Given the description of an element on the screen output the (x, y) to click on. 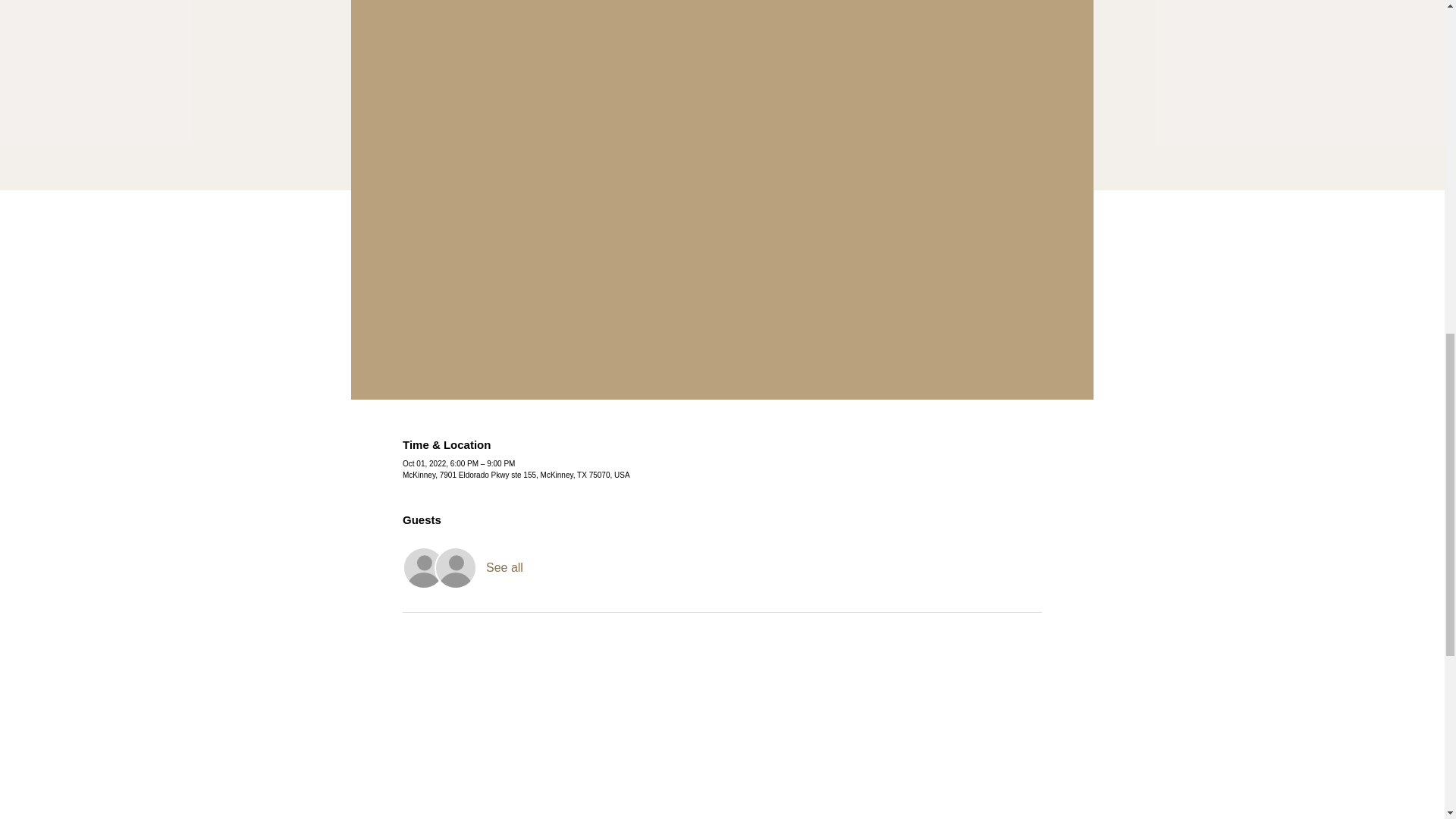
See all (504, 567)
